Given the description of an element on the screen output the (x, y) to click on. 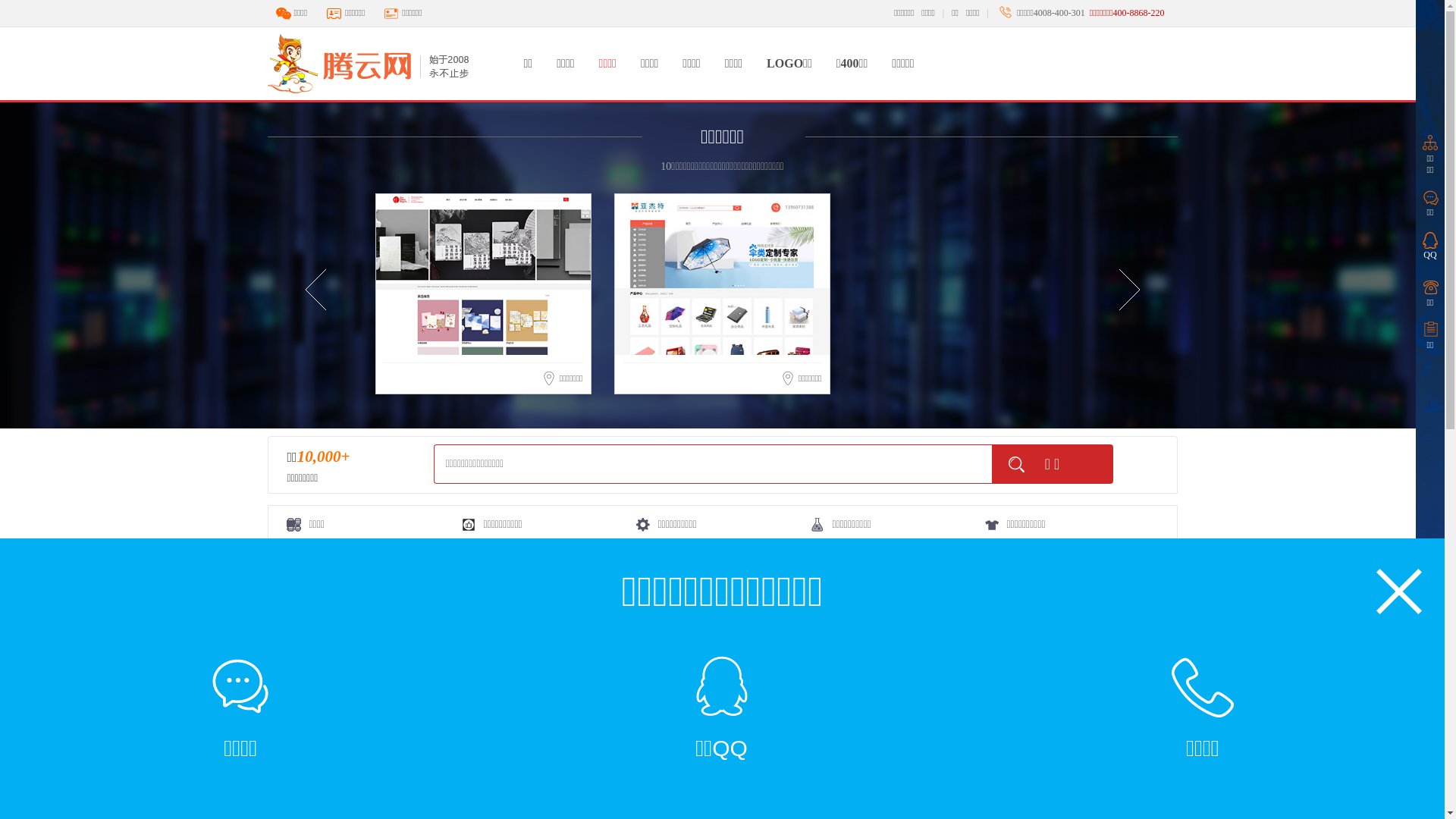
on Element type: text (1152, 610)
QQ Element type: text (1429, 243)
on Element type: text (1069, 610)
